Given the description of an element on the screen output the (x, y) to click on. 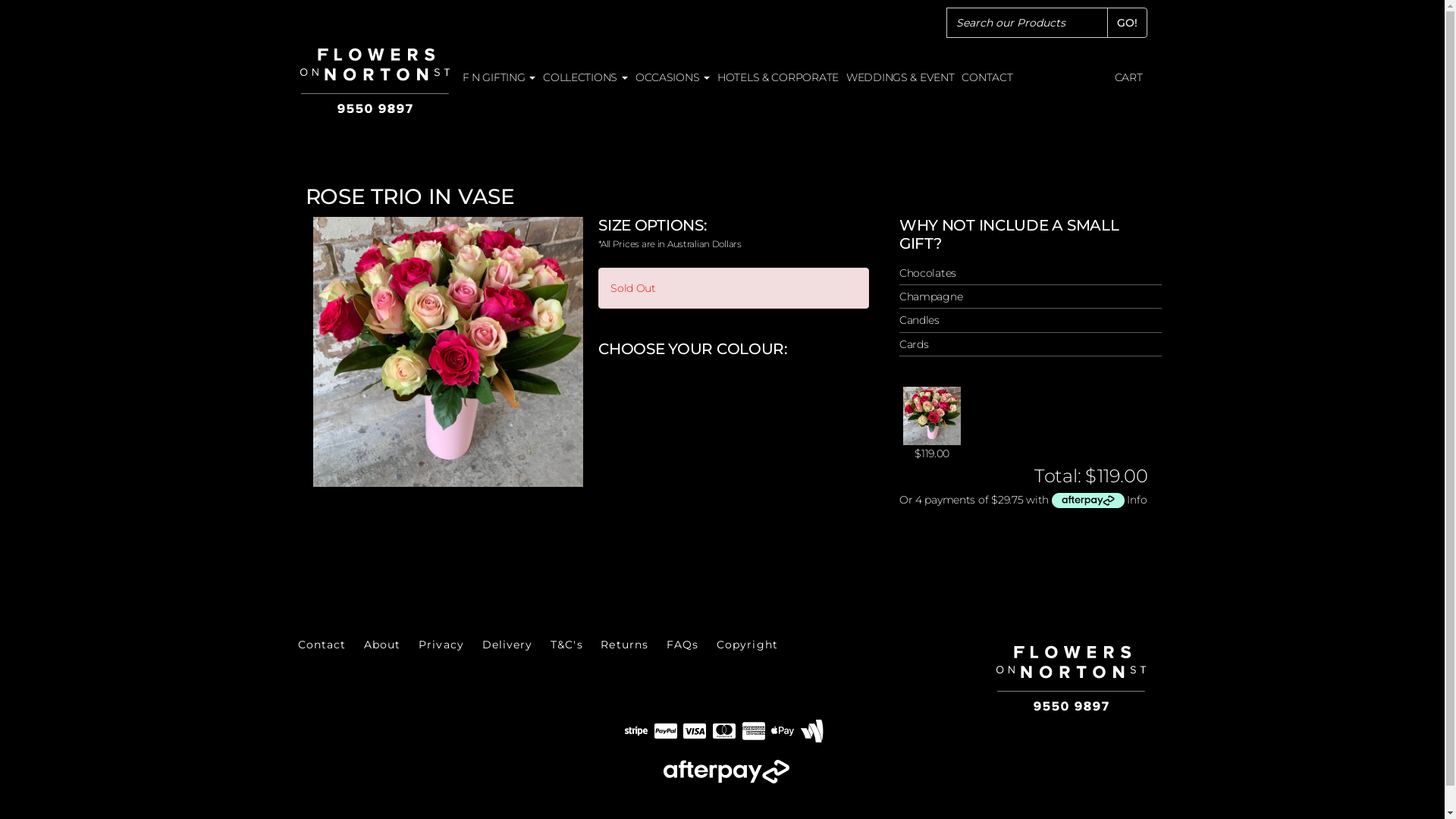
F N GIFTING Element type: text (498, 77)
Info Element type: text (1136, 499)
OCCASIONS Element type: text (672, 77)
Delivery Element type: text (507, 644)
COLLECTIONS Element type: text (585, 77)
T&C's Element type: text (566, 644)
Copyright Element type: text (747, 644)
About Element type: text (382, 644)
Contact Element type: text (321, 644)
Candles Element type: text (1030, 319)
HOTELS & CORPORATE Element type: text (777, 77)
Privacy Element type: text (441, 644)
WEDDINGS & EVENT Element type: text (900, 77)
Returns Element type: text (624, 644)
GO! Element type: text (1127, 22)
Rose Trio In Vase Element type: hover (447, 351)
CART Element type: text (1128, 77)
CONTACT Element type: text (986, 77)
Chocolates Element type: text (1030, 272)
Champagne Element type: text (1030, 296)
FAQs Element type: text (682, 644)
Cards Element type: text (1030, 343)
